Given the description of an element on the screen output the (x, y) to click on. 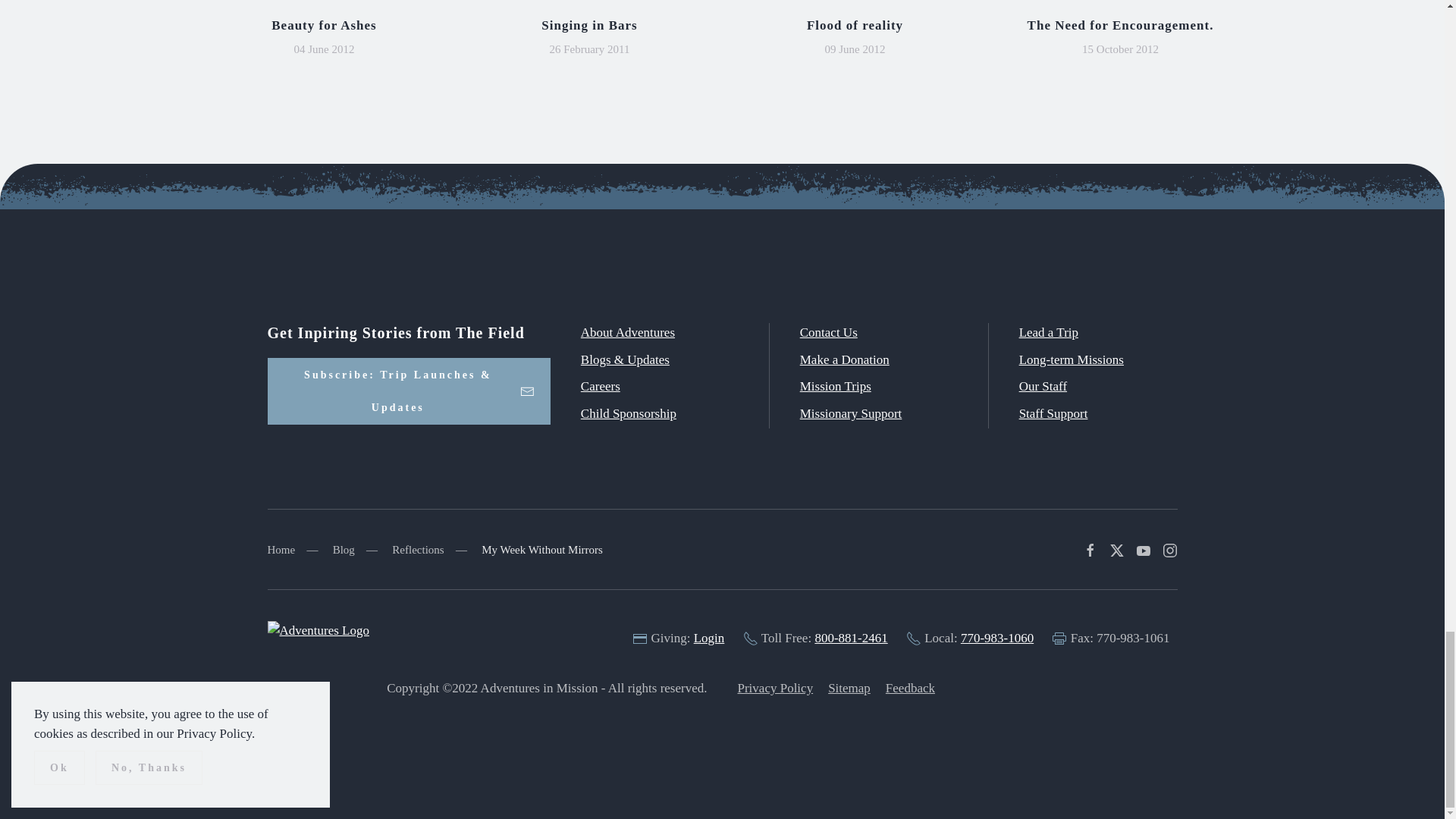
Beauty for Ashes (322, 25)
The Need for Encouragement. (1120, 25)
Flood of reality (854, 25)
About Adventures (627, 332)
Singing in Bars (589, 25)
Careers (600, 386)
